Given the description of an element on the screen output the (x, y) to click on. 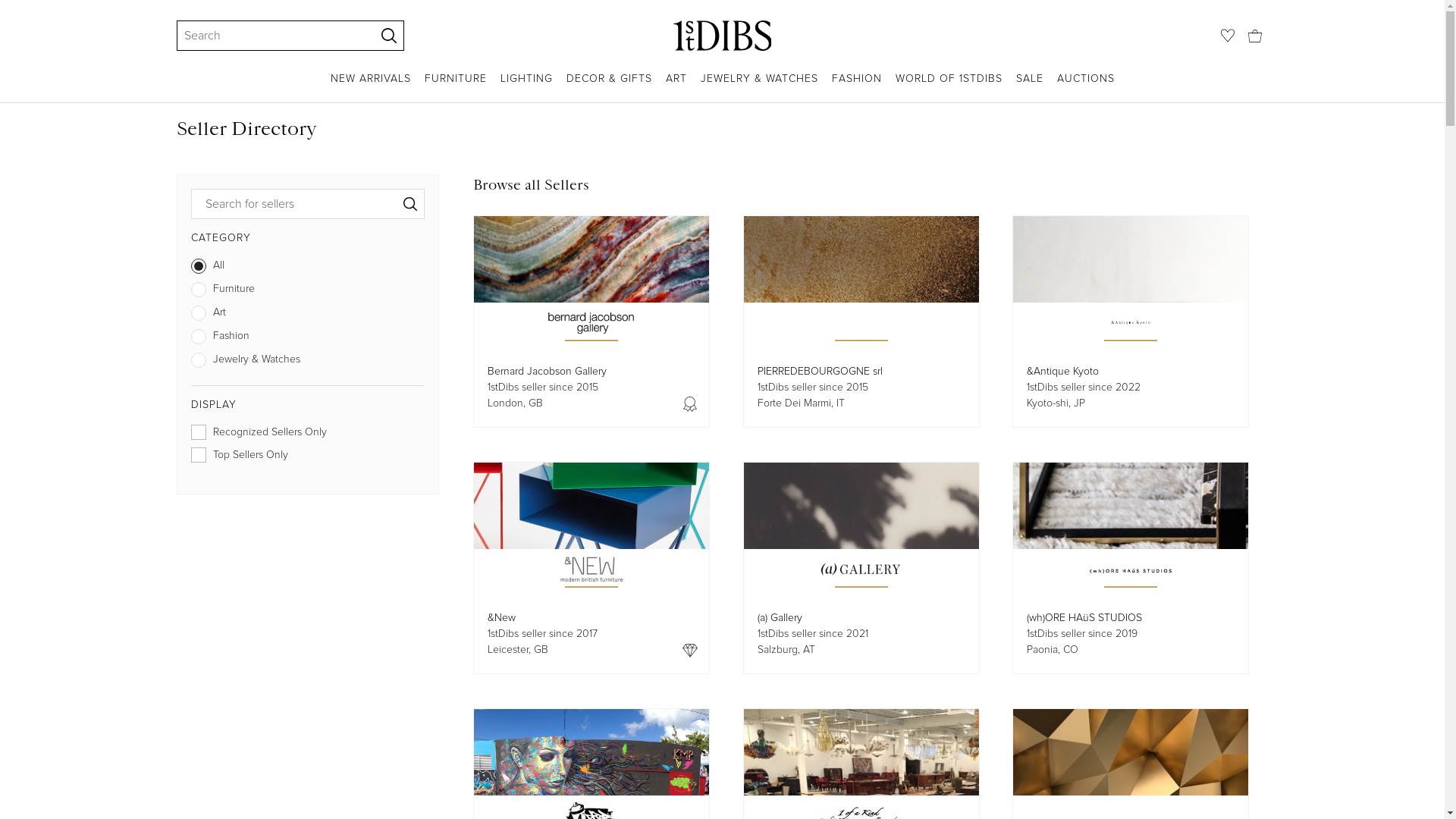
Jewelry & Watches Element type: text (308, 362)
FURNITURE Element type: text (455, 86)
All Element type: text (308, 268)
SKIP TO MAIN CONTENT Element type: text (6, 6)
LIGHTING Element type: text (526, 86)
Art Element type: text (308, 315)
Fashion Element type: text (308, 339)
Bernard Jacobson Gallery Element type: text (546, 370)
WORLD OF 1STDIBS Element type: text (947, 86)
AUCTIONS Element type: text (1085, 86)
Search Element type: hover (268, 35)
Top Sellers Only Element type: text (308, 457)
&New Element type: text (501, 617)
PIERREDEBOURGOGNE srl Element type: text (818, 370)
Furniture Element type: text (308, 292)
SALE Element type: text (1029, 86)
(a) Gallery Element type: text (778, 617)
Recognized Sellers Only Element type: text (308, 434)
ART Element type: text (676, 86)
FASHION Element type: text (856, 86)
DECOR & GIFTS Element type: text (608, 86)
&Antique Kyoto Element type: text (1062, 370)
JEWELRY & WATCHES Element type: text (759, 86)
NEW ARRIVALS Element type: text (370, 86)
